Given the description of an element on the screen output the (x, y) to click on. 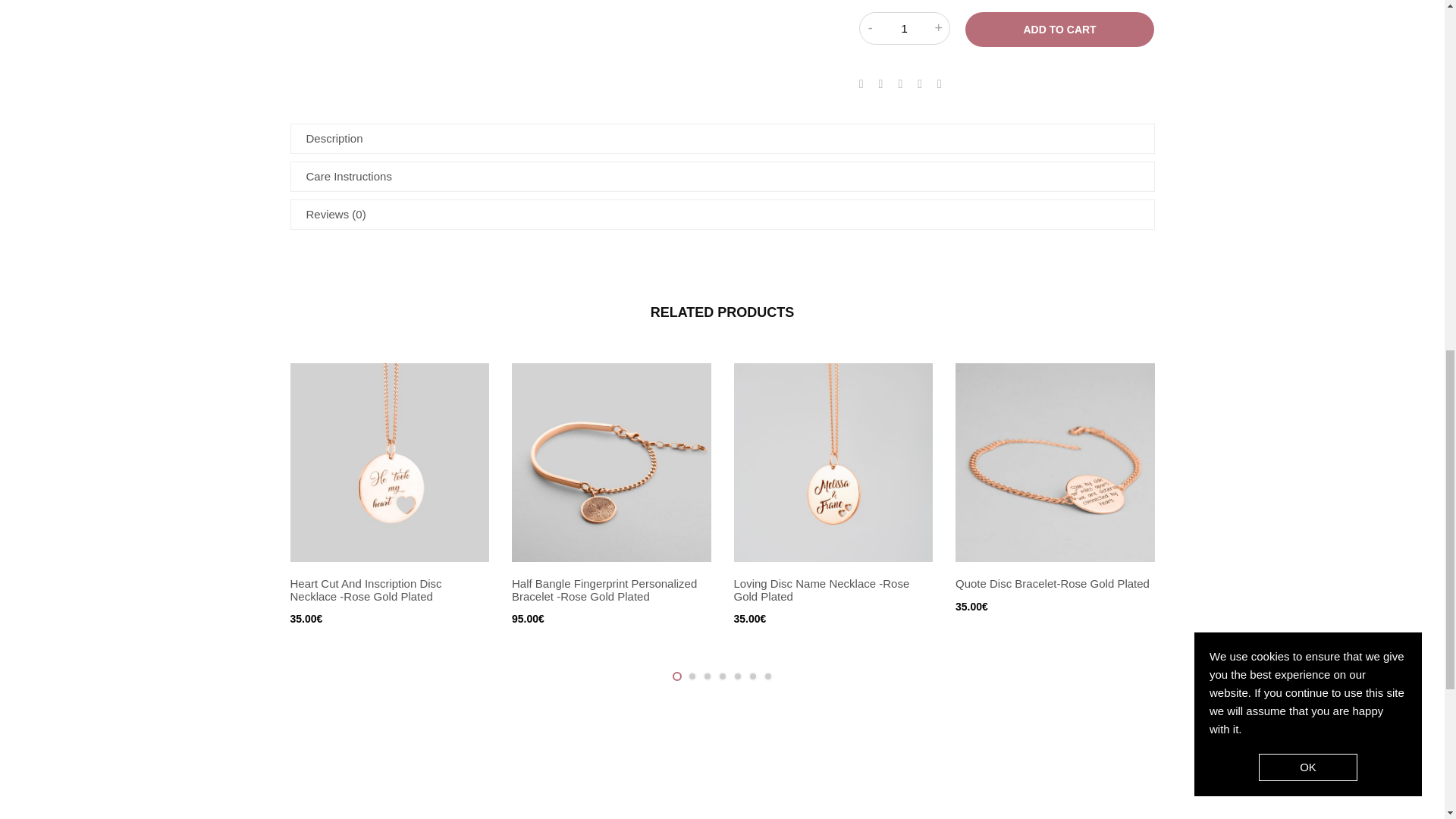
1 (904, 28)
Qty (904, 28)
